Given the description of an element on the screen output the (x, y) to click on. 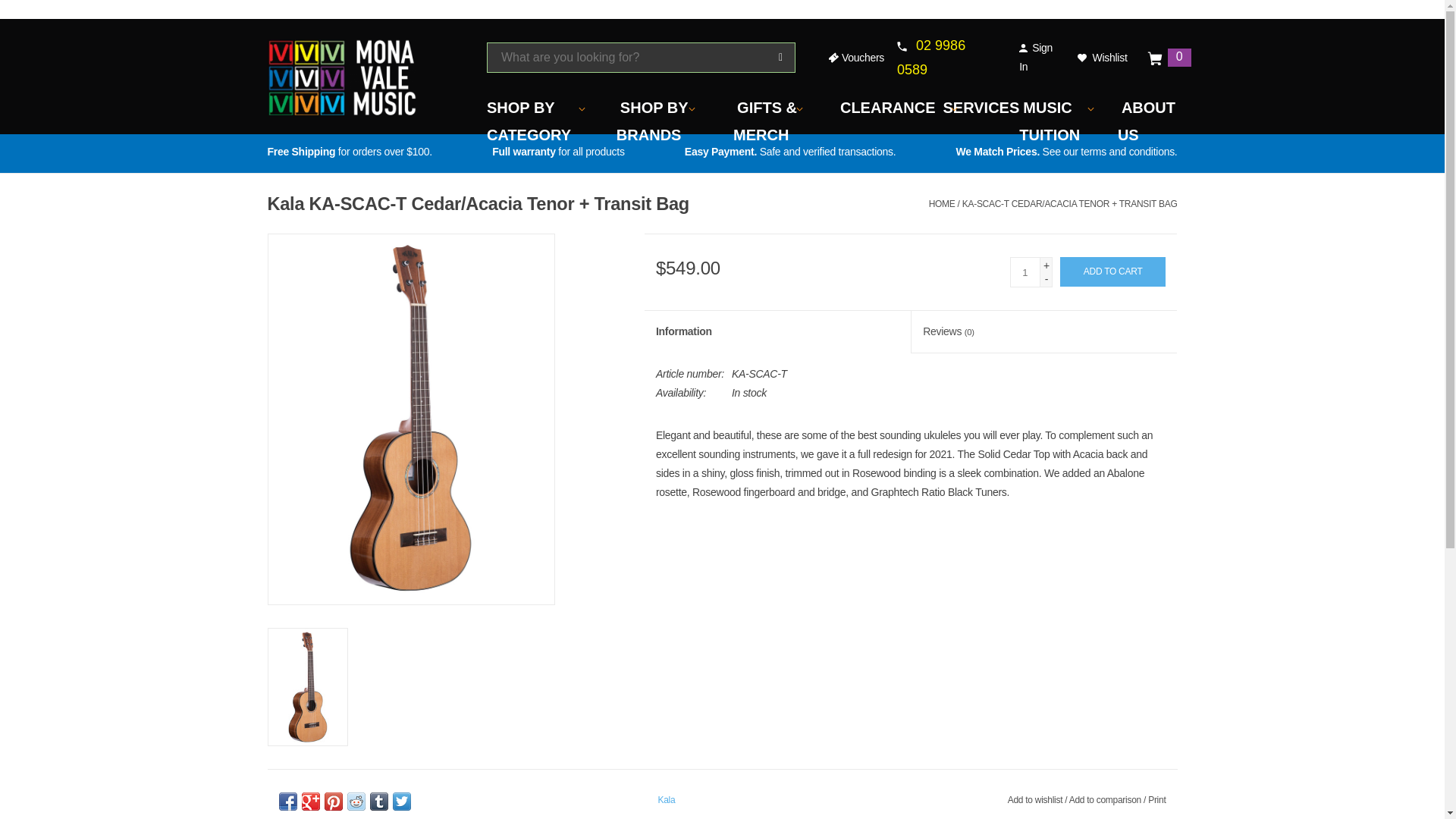
My account (1035, 56)
Wishlist (1101, 57)
Vouchers (855, 57)
Vouchers (855, 57)
Cart (1155, 58)
Shop By Category (528, 121)
02 9986 0589 (930, 56)
Sign In (1035, 56)
SHOP BY CATEGORY (528, 121)
Wishlist (1101, 57)
